Given the description of an element on the screen output the (x, y) to click on. 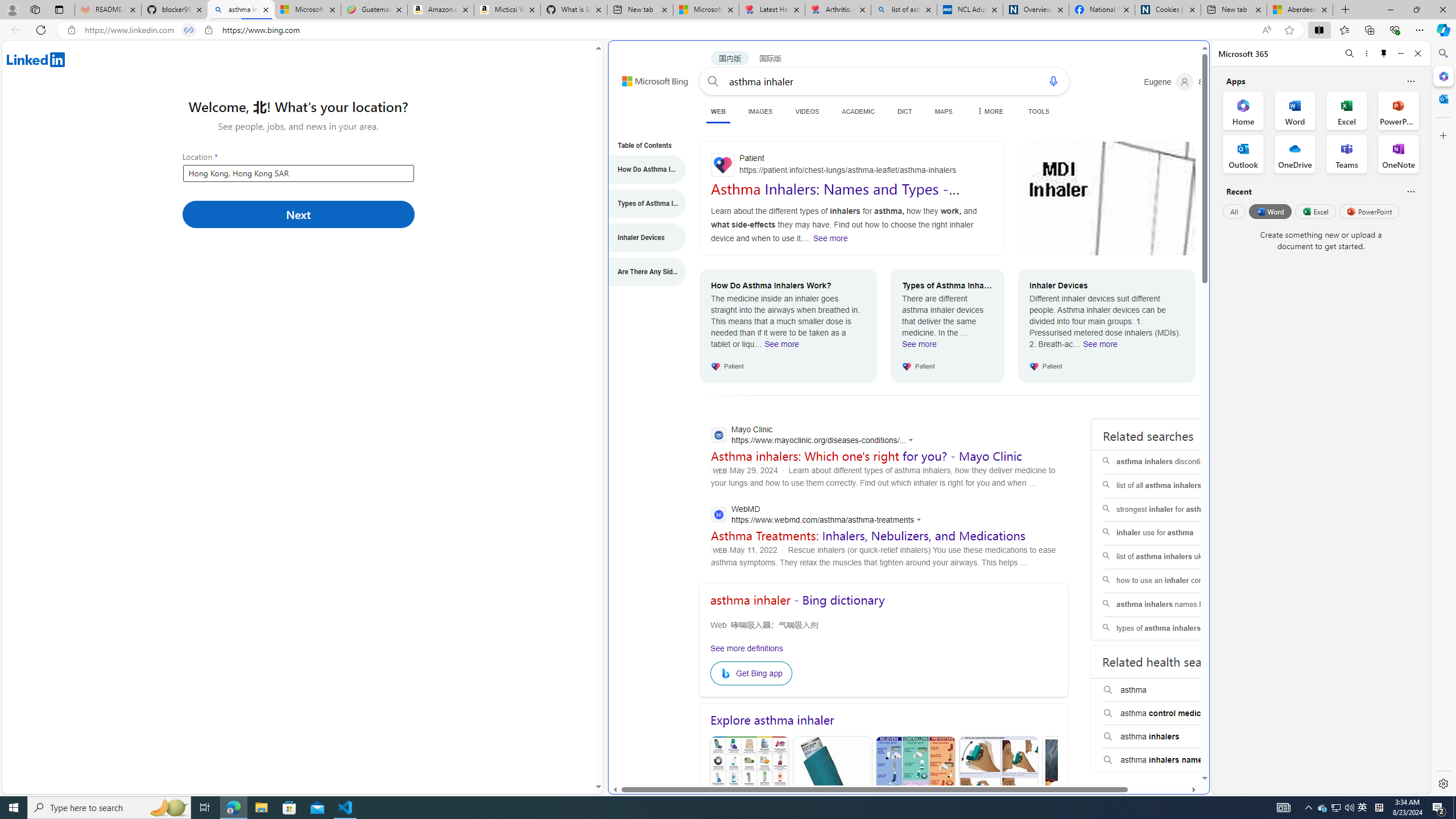
PowerPoint (1369, 210)
OneNote Office App (1398, 154)
PowerPoint Office App (1398, 110)
Is this helpful? (1410, 191)
DICT (904, 111)
Back to Bing search (648, 78)
Explore asthma inhaler (883, 719)
asthma inhalers names brands (1174, 604)
list of all asthma inhalers (1174, 485)
Word Office App (1295, 110)
MAPS (943, 111)
